Given the description of an element on the screen output the (x, y) to click on. 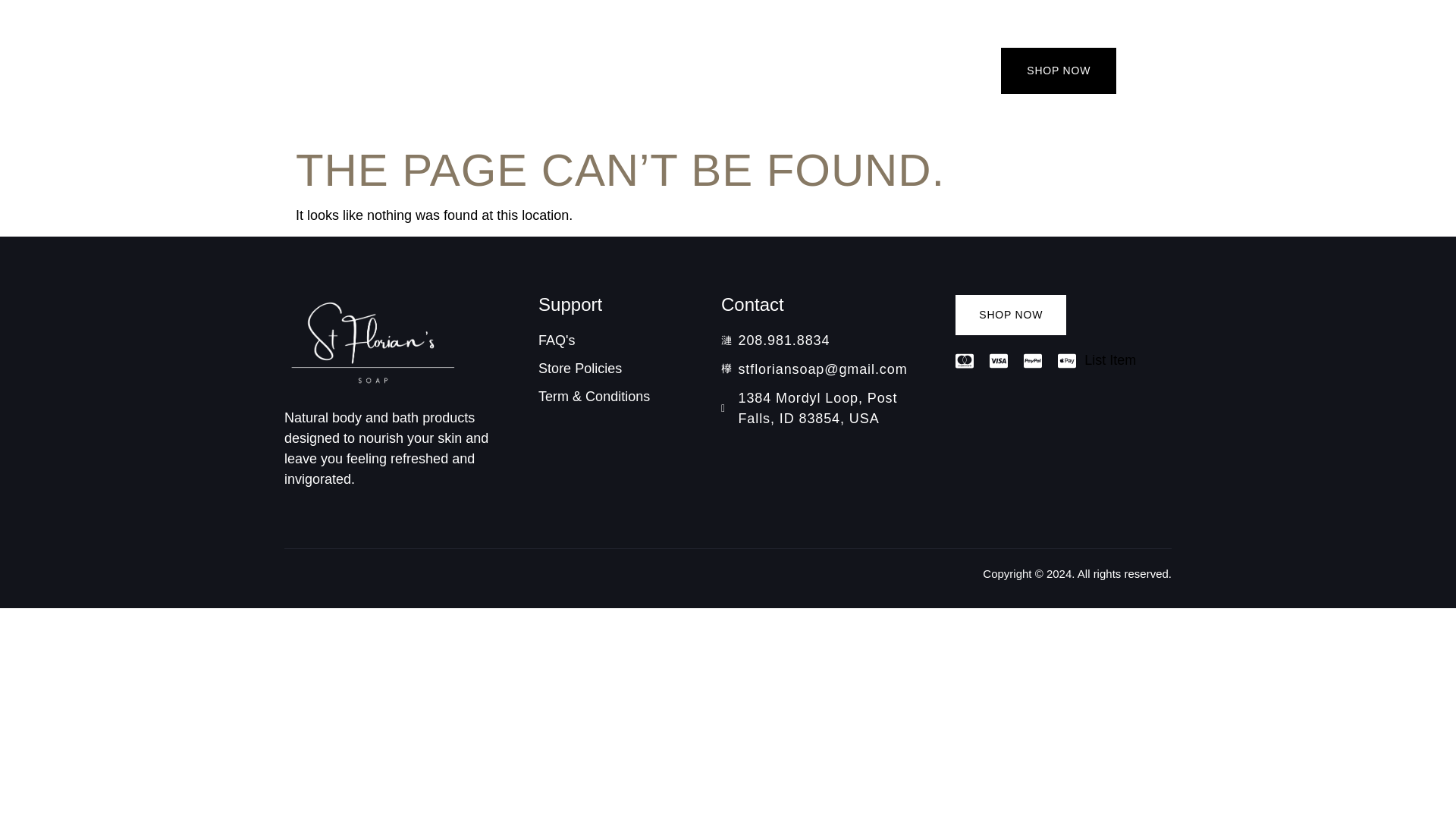
SHOP NOW (1058, 70)
PRIVACY POLICY (532, 62)
1384 Mordyl Loop, Post Falls, ID 83854, USA (825, 408)
SHOP NOW (1010, 314)
CONTACT US (395, 62)
FAQ's (617, 340)
208.981.8834 (825, 340)
ABOUT US (280, 62)
Store Policies (617, 368)
